Given the description of an element on the screen output the (x, y) to click on. 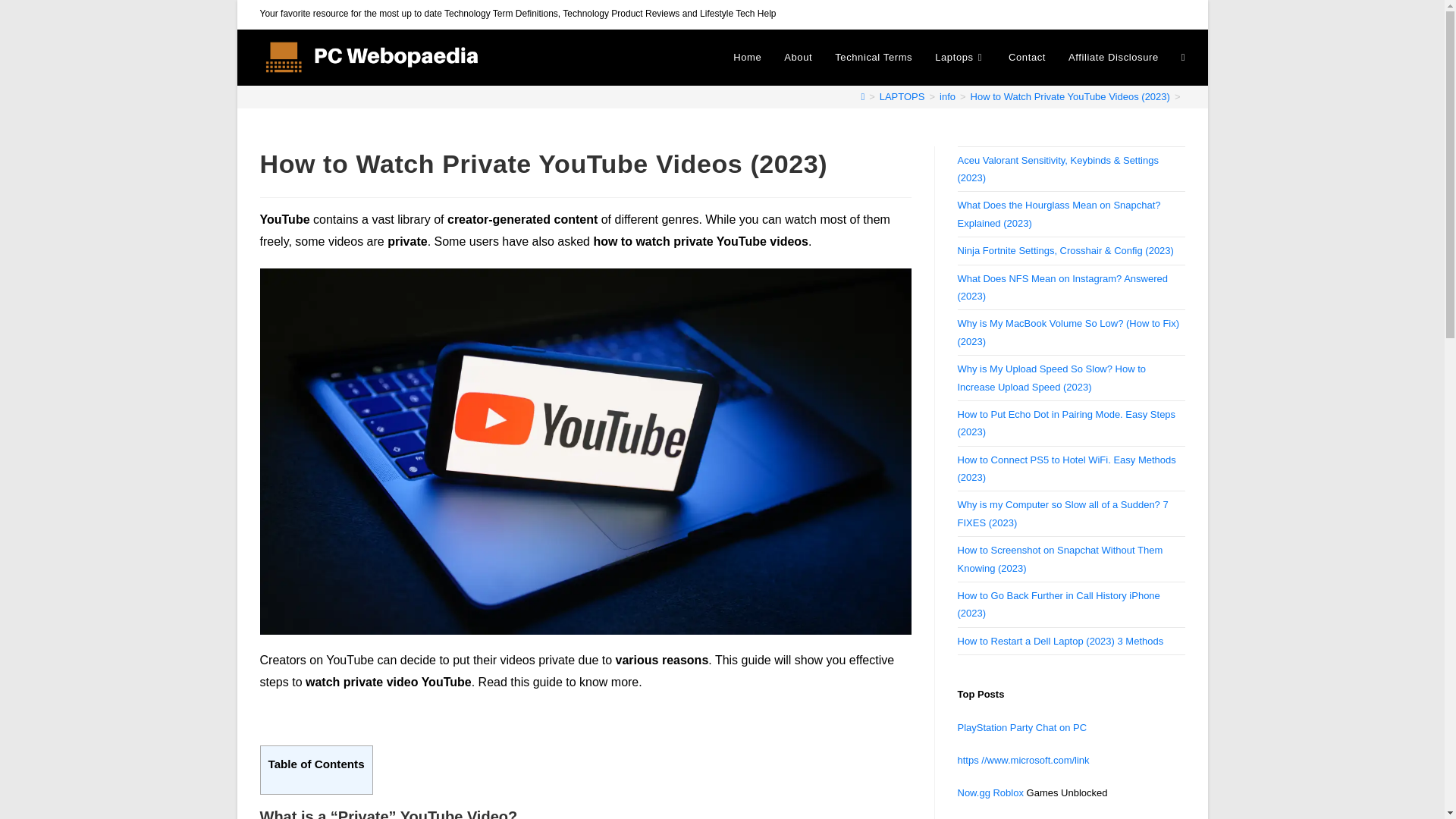
Contact (1027, 57)
Home (747, 57)
About (798, 57)
info (947, 96)
LAPTOPS (901, 96)
Affiliate Disclosure (1113, 57)
Laptops (960, 57)
Technical Terms (873, 57)
